Given the description of an element on the screen output the (x, y) to click on. 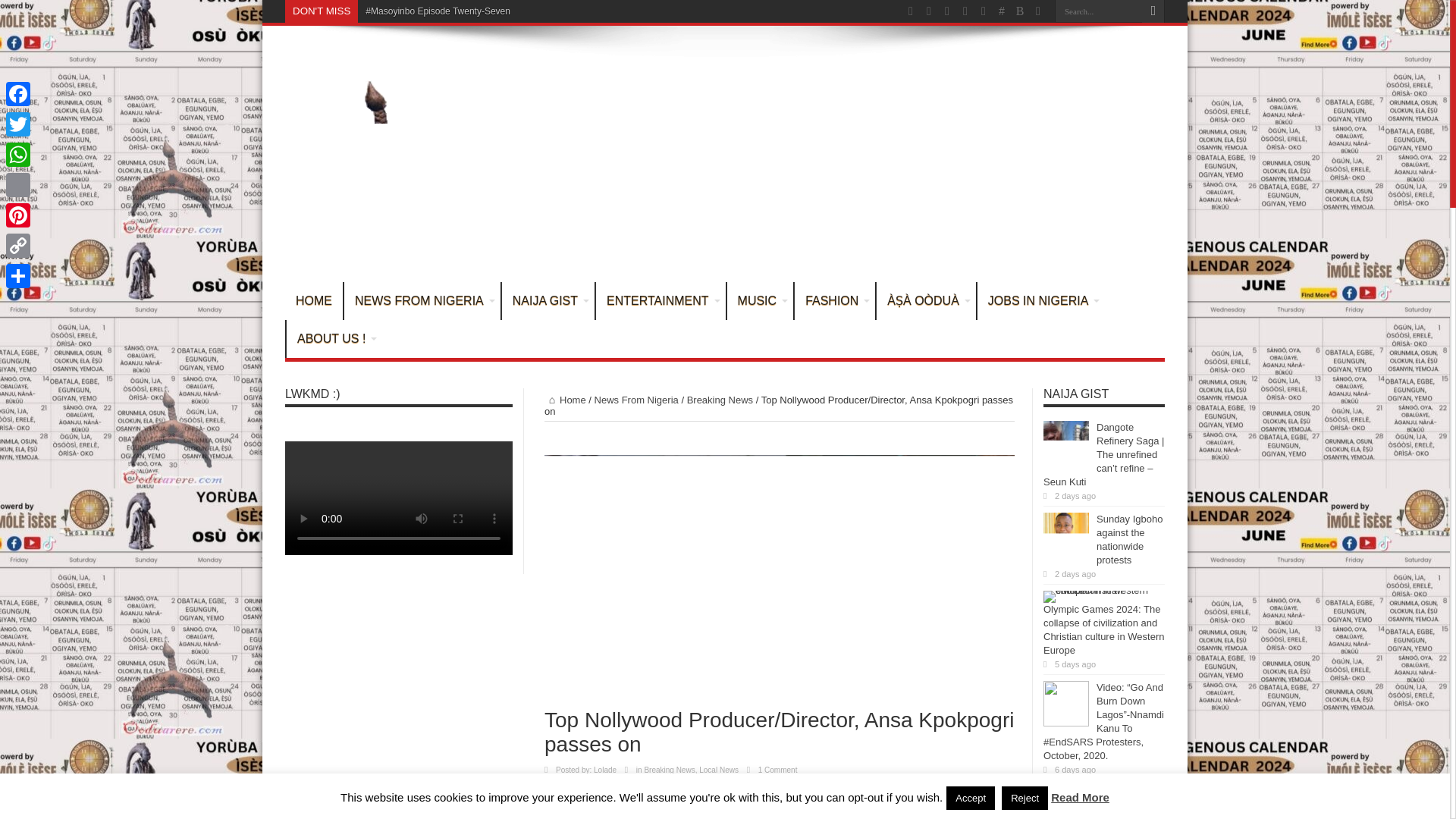
Search... (1097, 11)
Search (1152, 11)
FASHION (834, 300)
Advertisement (888, 156)
ENTERTAINMENT (660, 300)
JOBS IN NIGERIA (1040, 300)
MUSIC (759, 300)
